Given the description of an element on the screen output the (x, y) to click on. 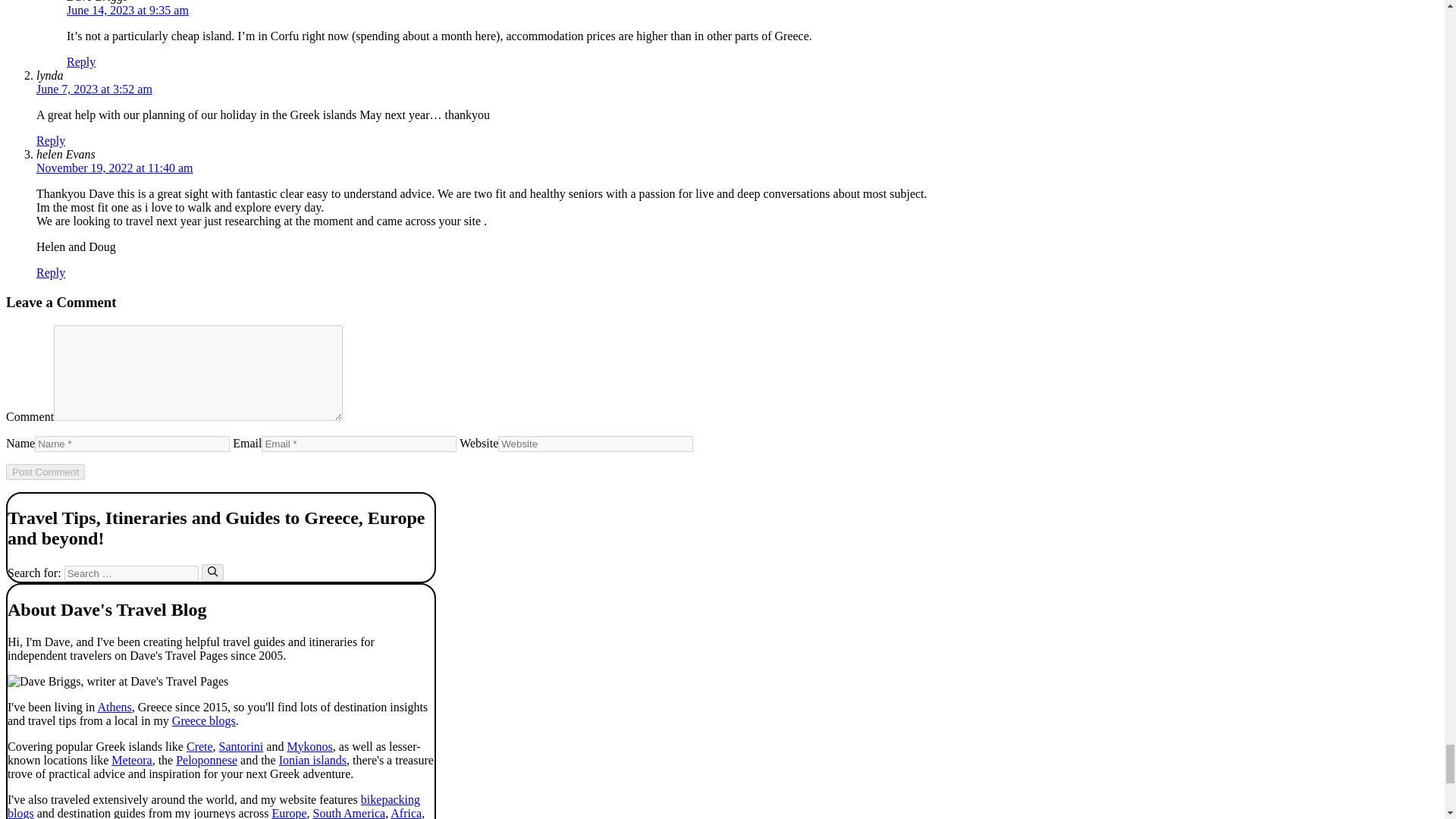
Search for: (131, 573)
Post Comment (44, 471)
